Given the description of an element on the screen output the (x, y) to click on. 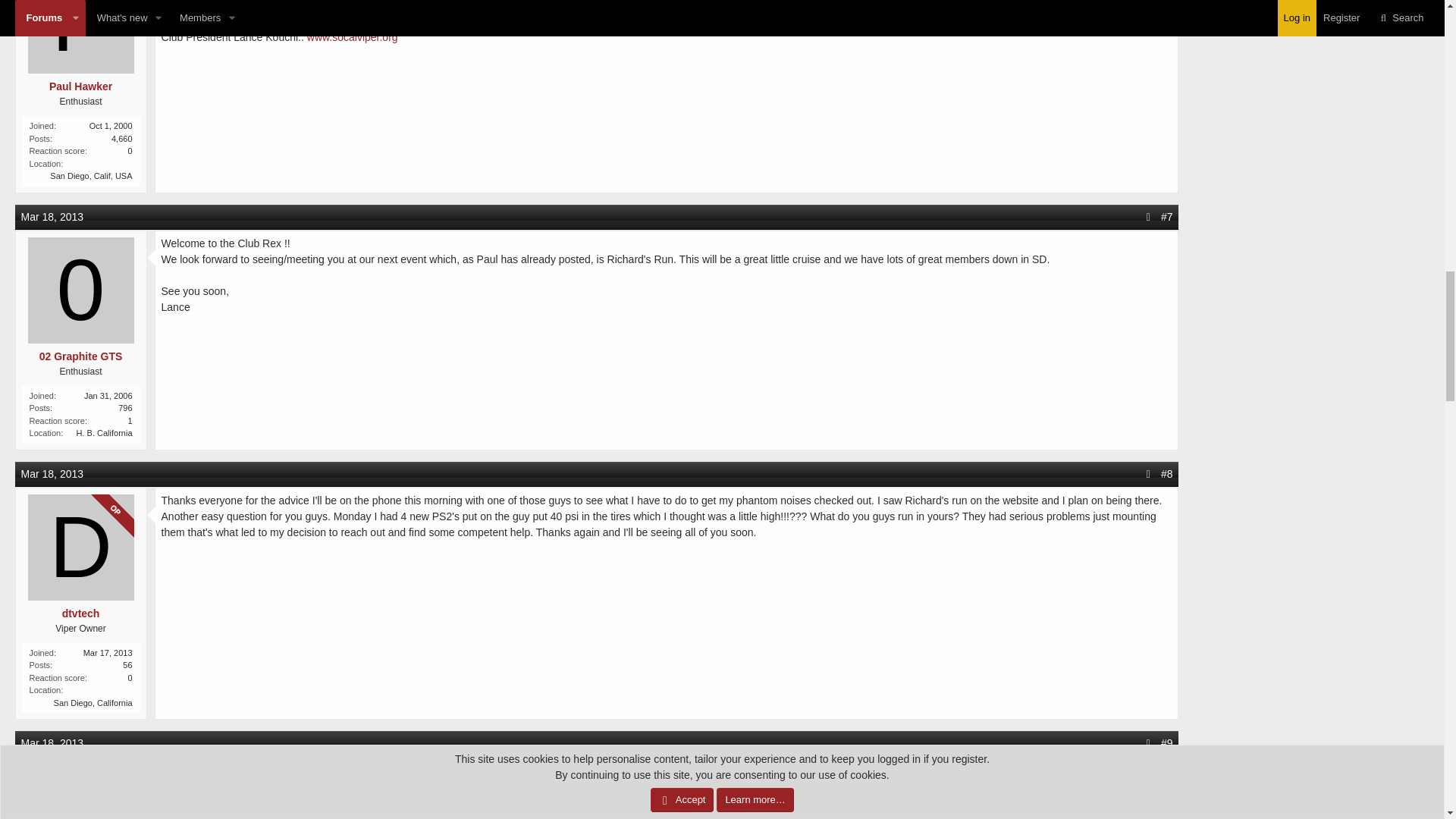
Mar 18, 2013 at 12:15 AM (52, 216)
Mar 18, 2013 at 8:35 AM (52, 473)
Mar 18, 2013 at 3:23 PM (52, 743)
